Given the description of an element on the screen output the (x, y) to click on. 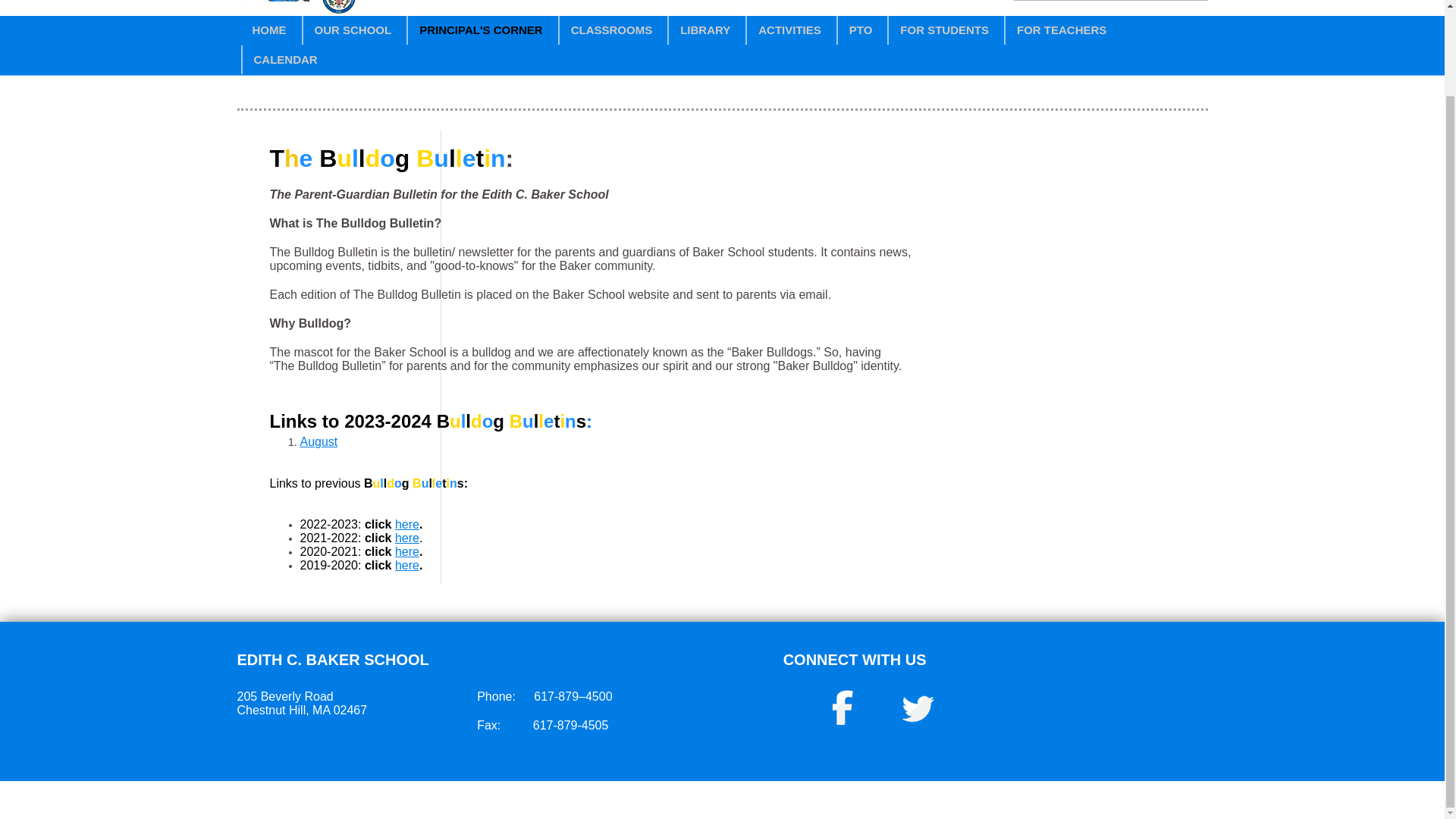
OUR SCHOOL (352, 30)
Edith C. Baker School (295, 11)
HOME (269, 30)
Finalsite - all rights reserved (1040, 797)
Click to email the primary contact (741, 795)
